Given the description of an element on the screen output the (x, y) to click on. 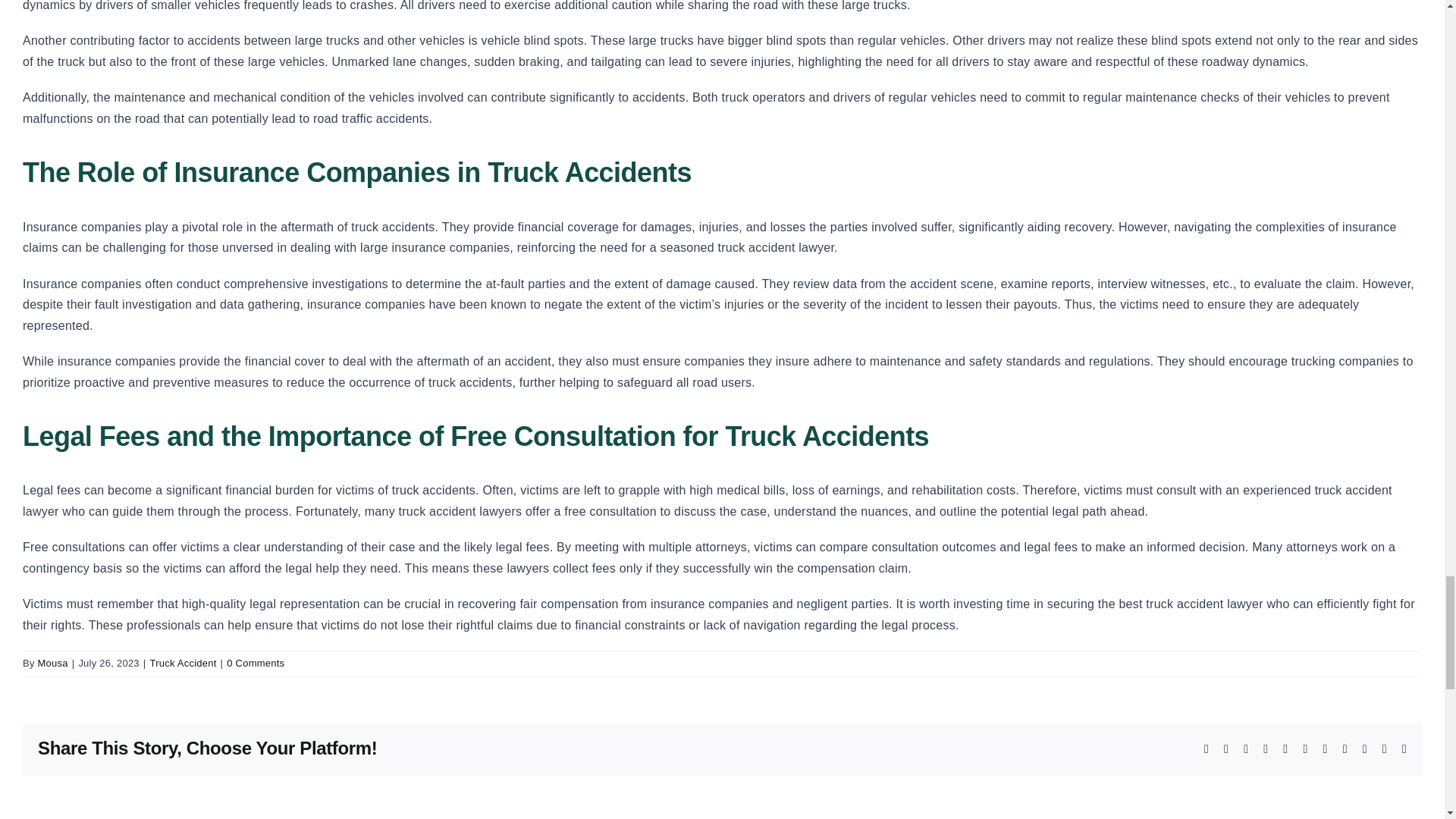
Mousa (52, 663)
Posts by Mousa (52, 663)
0 Comments (255, 663)
Truck Accident (182, 663)
